Given the description of an element on the screen output the (x, y) to click on. 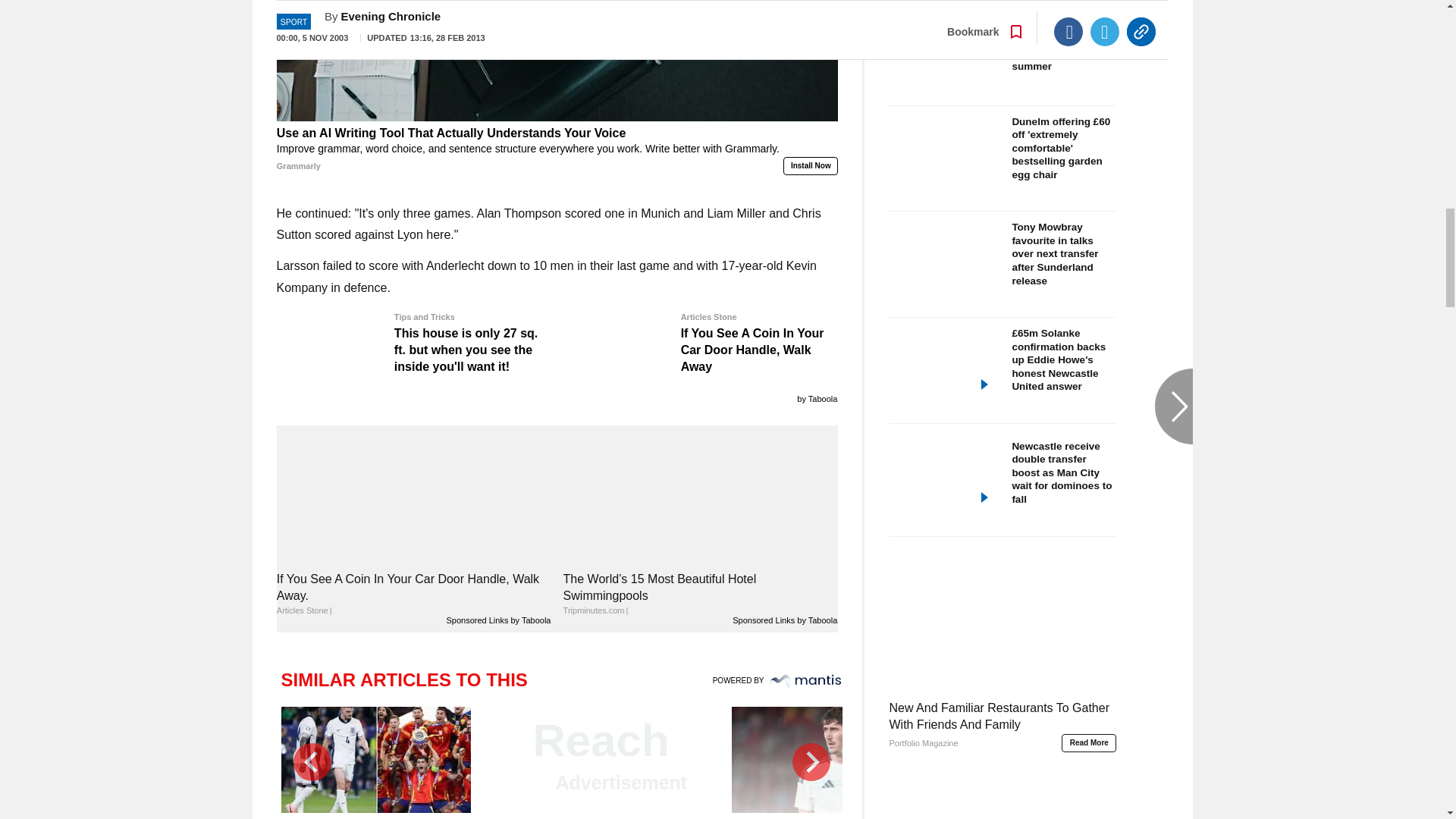
Use an AI Writing Tool That Actually Understands Your Voice (557, 150)
